Given the description of an element on the screen output the (x, y) to click on. 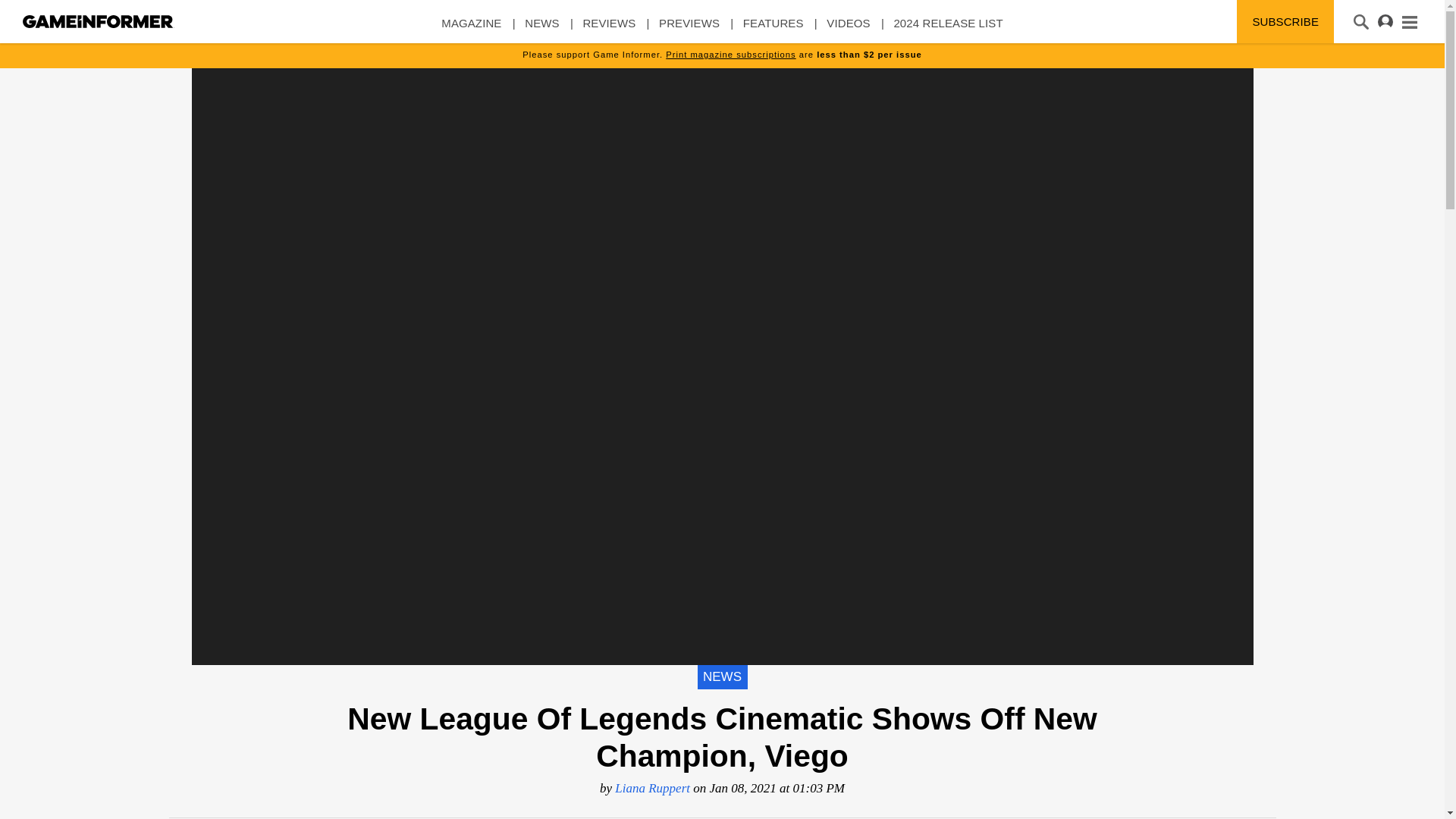
SUBSCRIBE (1284, 21)
2024 RELEASE LIST (948, 29)
MAGAZINE (470, 29)
REVIEWS (608, 29)
Search (32, 13)
FEATURES (772, 29)
PREVIEWS (689, 29)
NEWS (541, 29)
VIDEOS (848, 29)
